Given the description of an element on the screen output the (x, y) to click on. 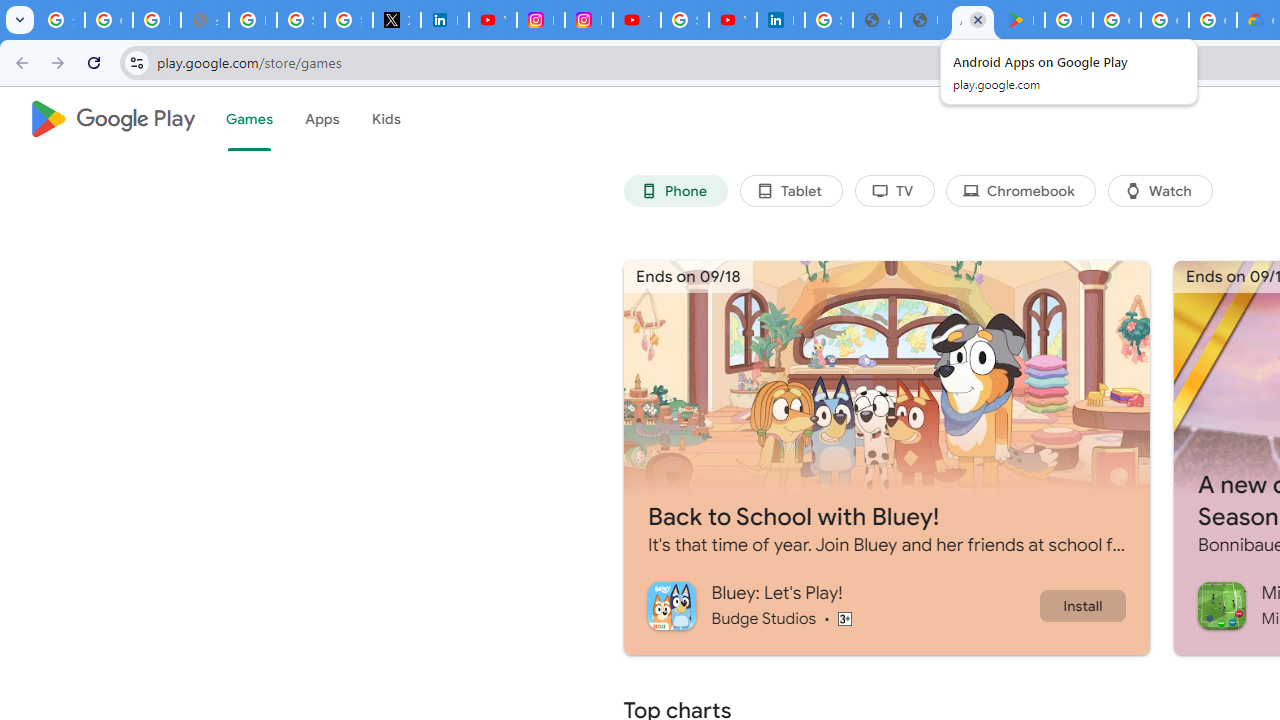
Bluey: Let's Play! Budge Studios Content rating Rated for 3+ (842, 605)
Sign in - Google Accounts (828, 20)
YouTube Content Monetization Policies - How YouTube Works (492, 20)
Google Workspace - Specific Terms (1164, 20)
Content rating Rated for 3+ (844, 618)
Install (1082, 605)
Google Play logo (111, 119)
PAW Patrol Rescue World - Apps on Google Play (1020, 20)
Kids (385, 119)
Phone (675, 190)
